Given the description of an element on the screen output the (x, y) to click on. 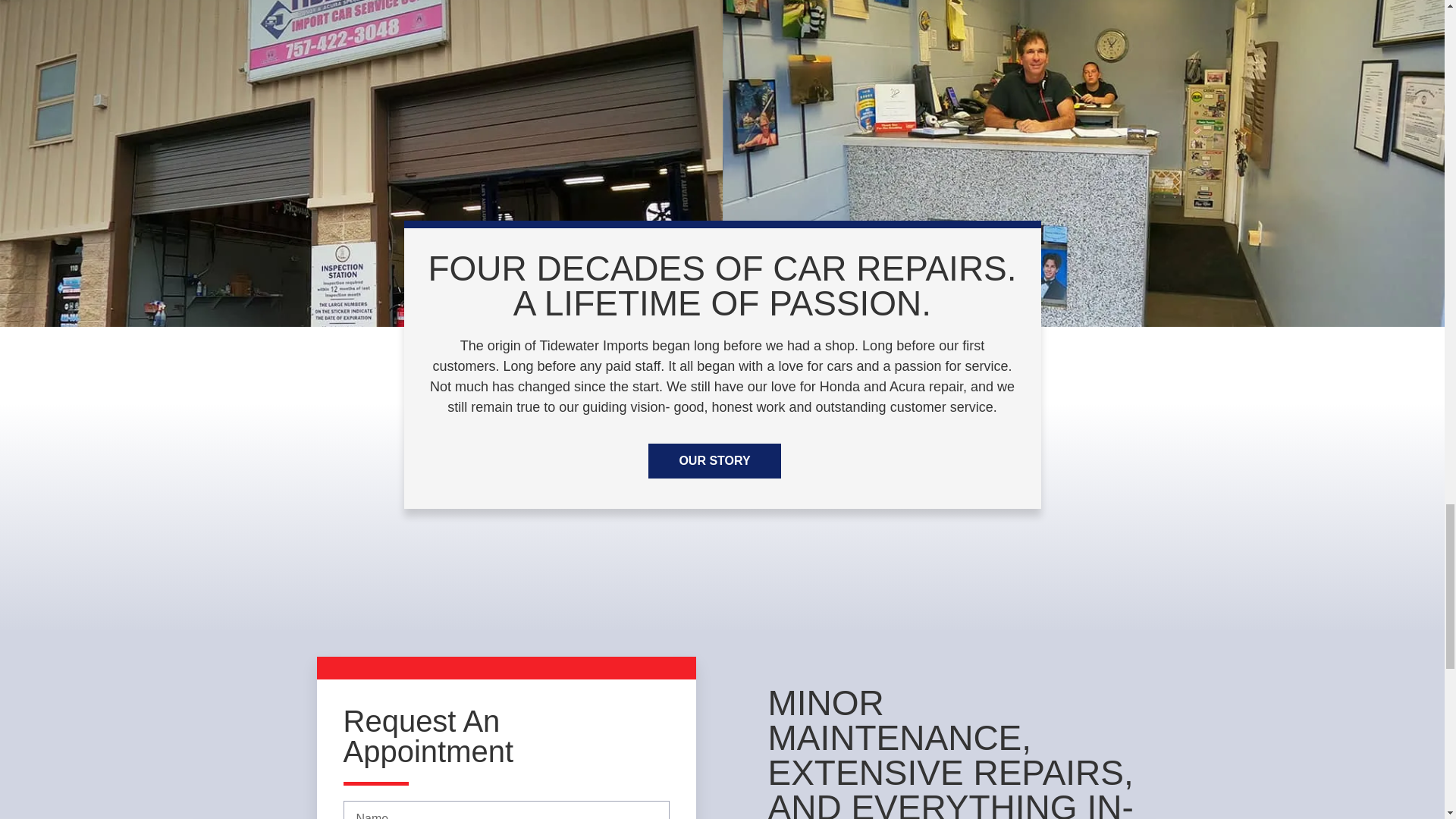
OUR STORY (713, 460)
